Given the description of an element on the screen output the (x, y) to click on. 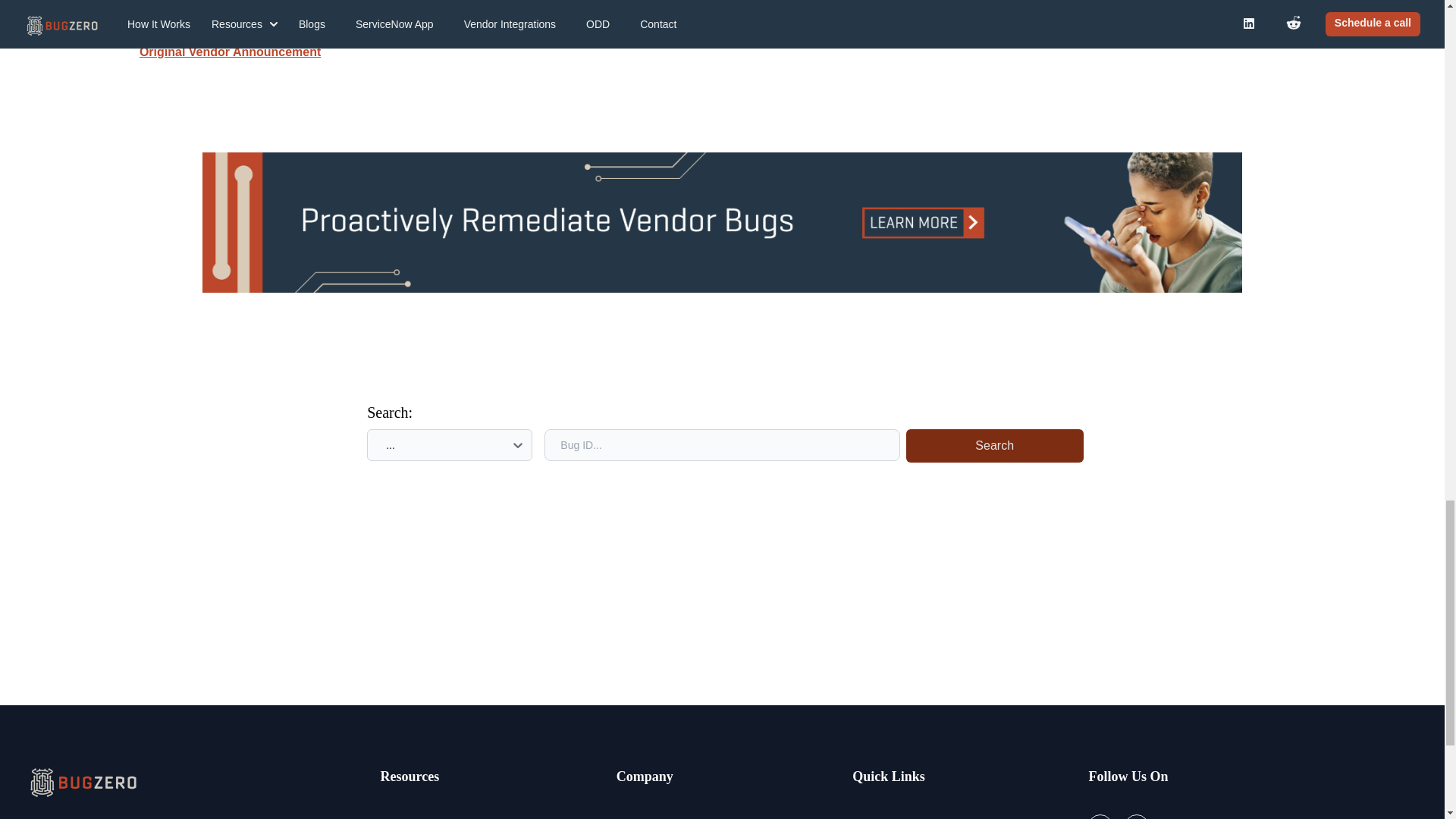
Search (991, 445)
Cost Of Outages (425, 816)
Search (994, 445)
Original Vendor Announcement (229, 51)
ServiceNow App (895, 816)
About BugZero (656, 816)
